Given the description of an element on the screen output the (x, y) to click on. 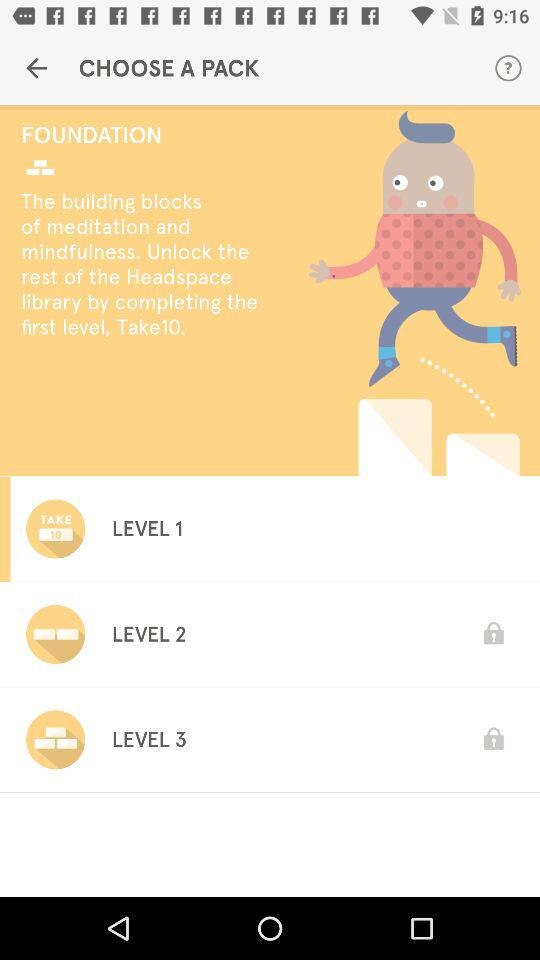
flip until the level 3 item (148, 739)
